Given the description of an element on the screen output the (x, y) to click on. 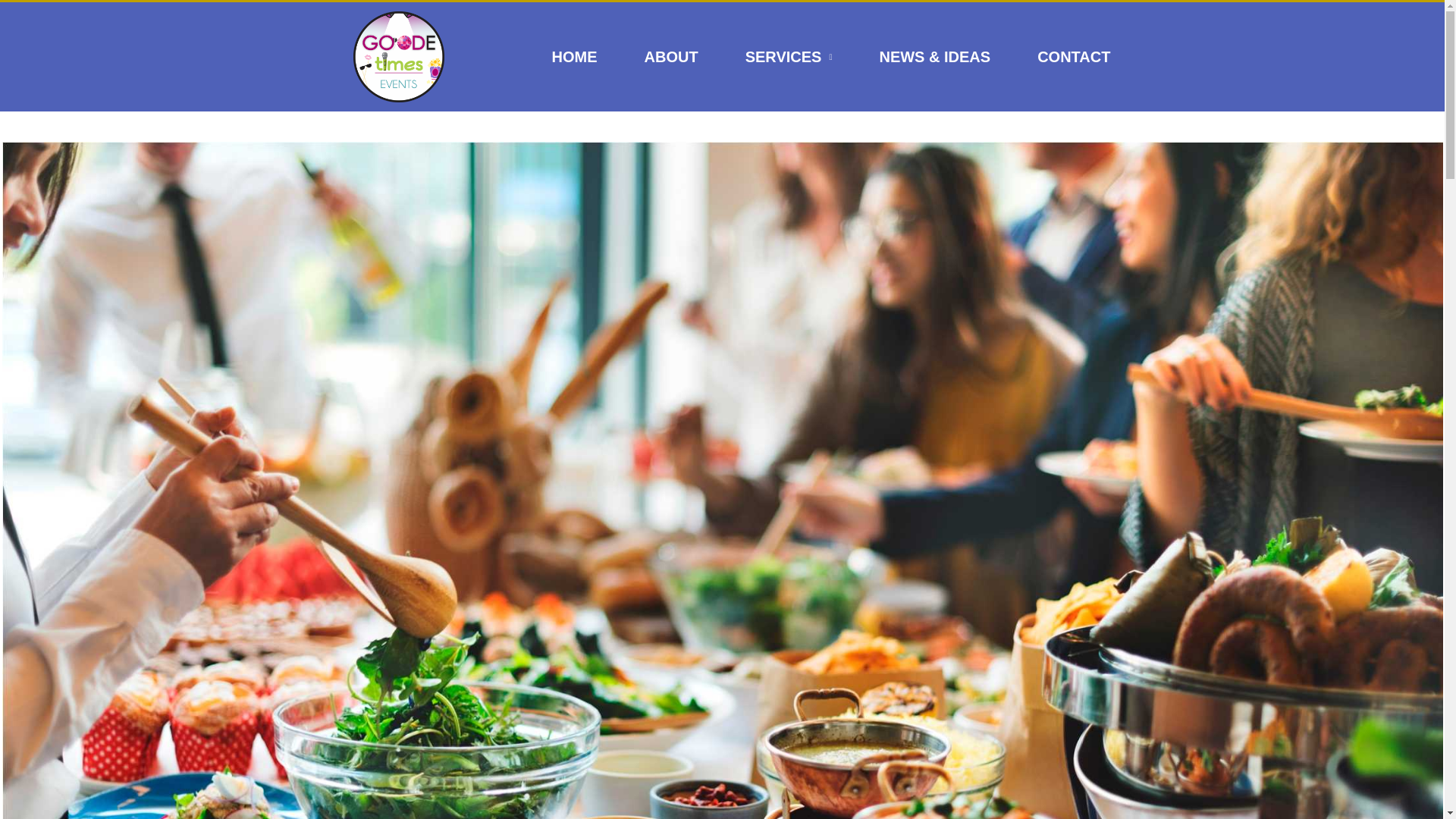
HOME (574, 56)
CONTACT (1073, 56)
SERVICES (789, 56)
ABOUT (671, 56)
